Given the description of an element on the screen output the (x, y) to click on. 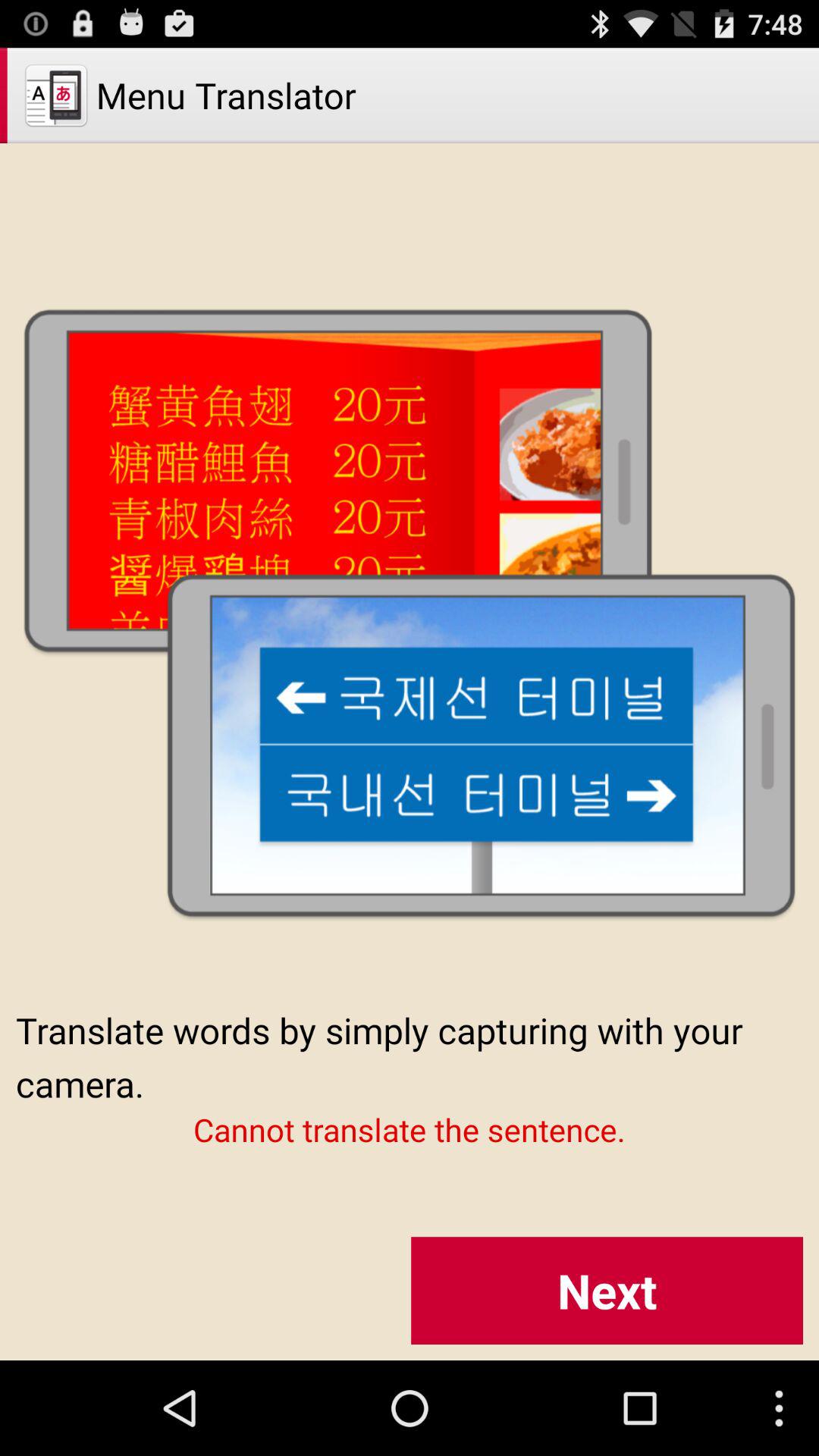
open the next icon (607, 1290)
